Given the description of an element on the screen output the (x, y) to click on. 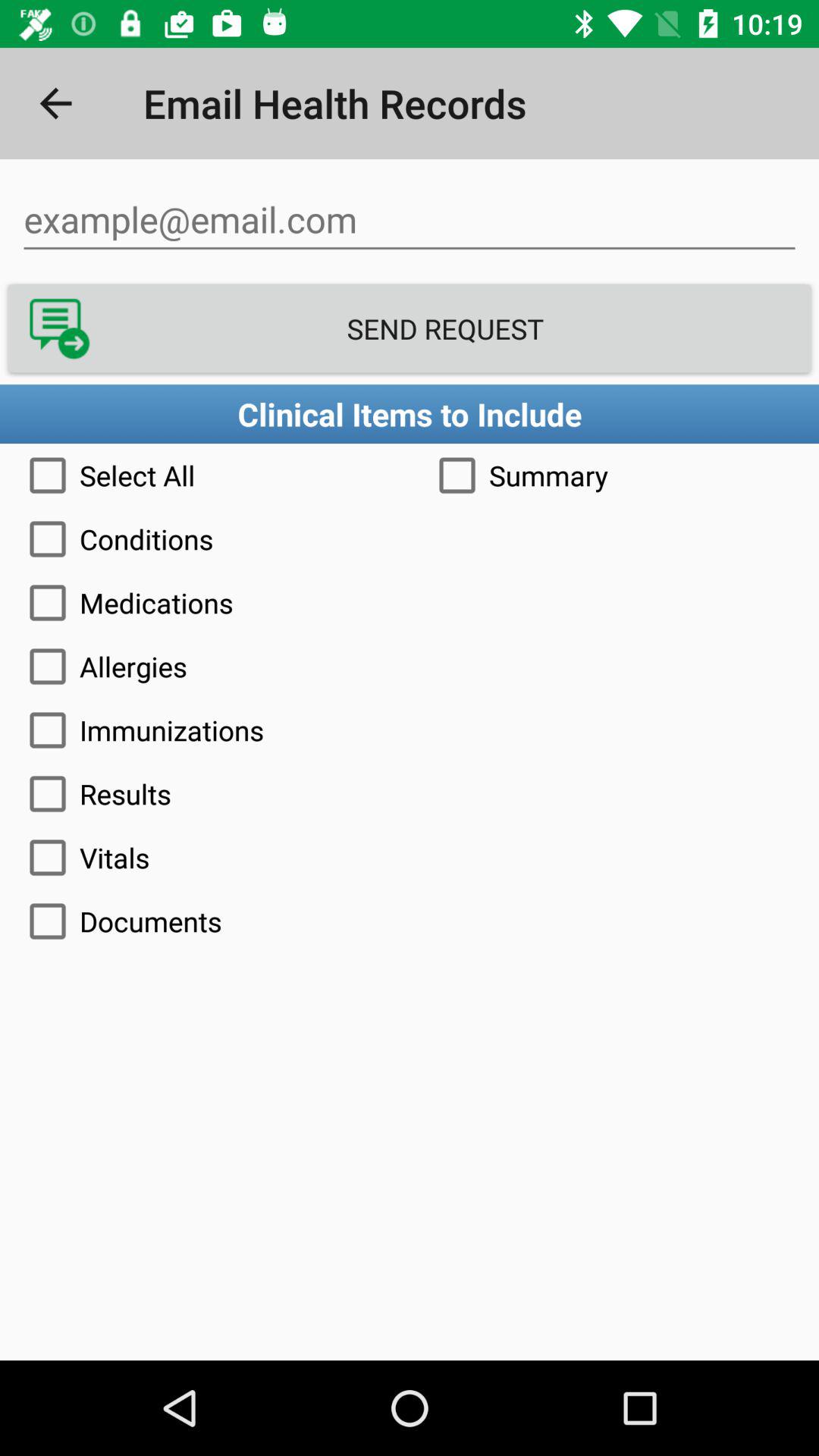
select item below the vitals item (409, 921)
